Given the description of an element on the screen output the (x, y) to click on. 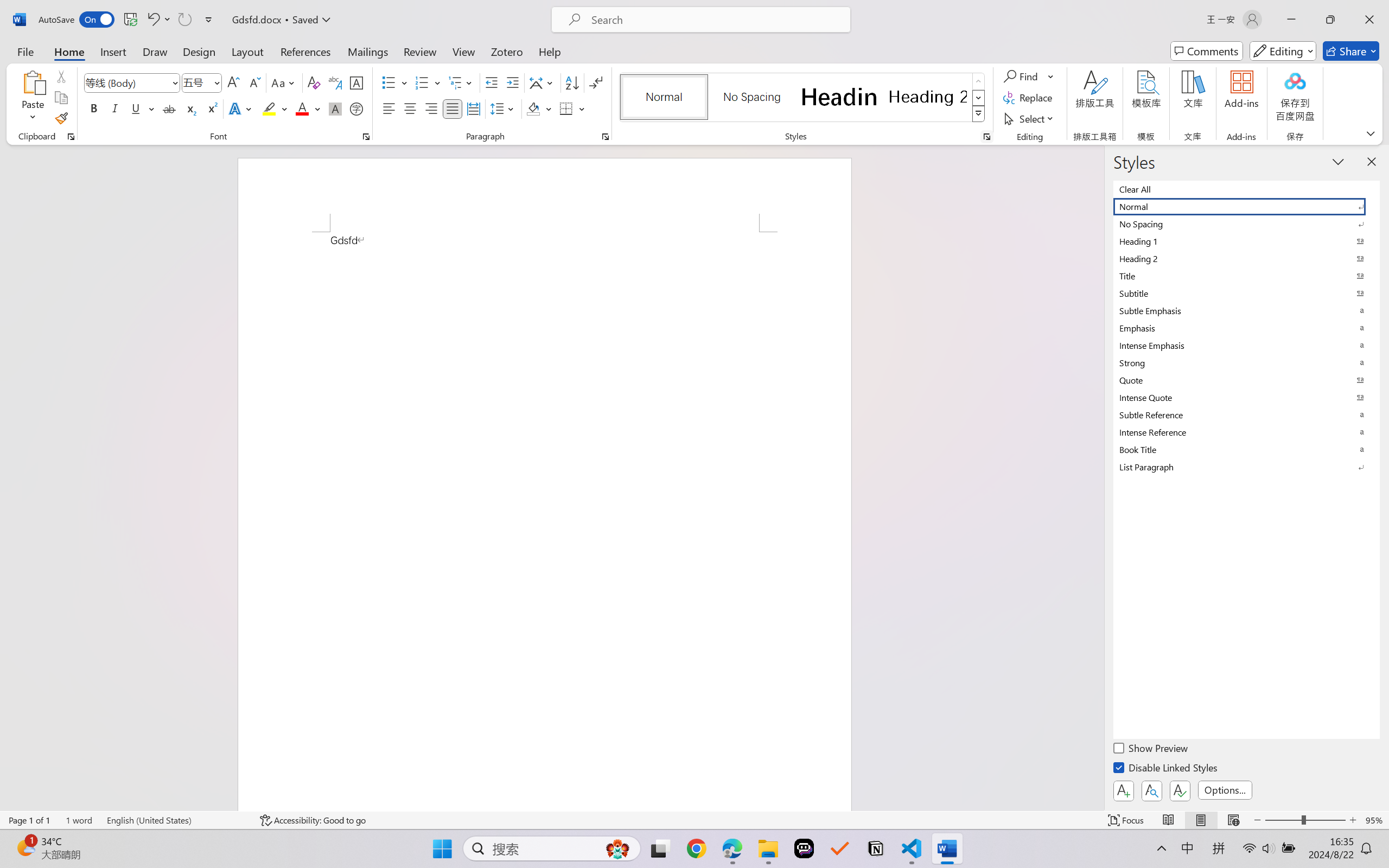
Intense Emphasis (1246, 345)
Strong (1246, 362)
Select (1030, 118)
Class: NetUIScrollBar (1097, 477)
Show/Hide Editing Marks (595, 82)
Sort... (571, 82)
Superscript (210, 108)
Line and Paragraph Spacing (503, 108)
